Given the description of an element on the screen output the (x, y) to click on. 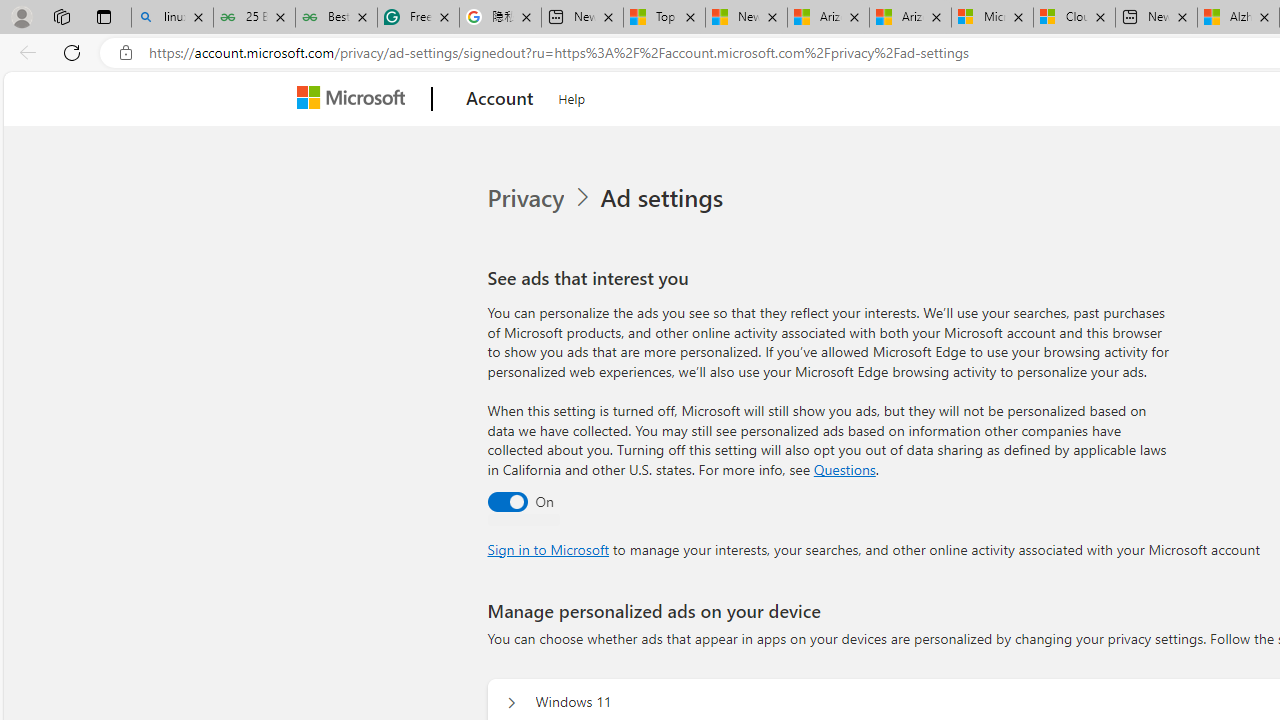
Top Stories - MSN (664, 17)
Ad settings toggle (506, 501)
Best SSL Certificates Provider in India - GeeksforGeeks (336, 17)
Microsoft (354, 99)
linux basic - Search (171, 17)
Free AI Writing Assistance for Students | Grammarly (418, 17)
Privacy (541, 197)
Help (572, 96)
